Given the description of an element on the screen output the (x, y) to click on. 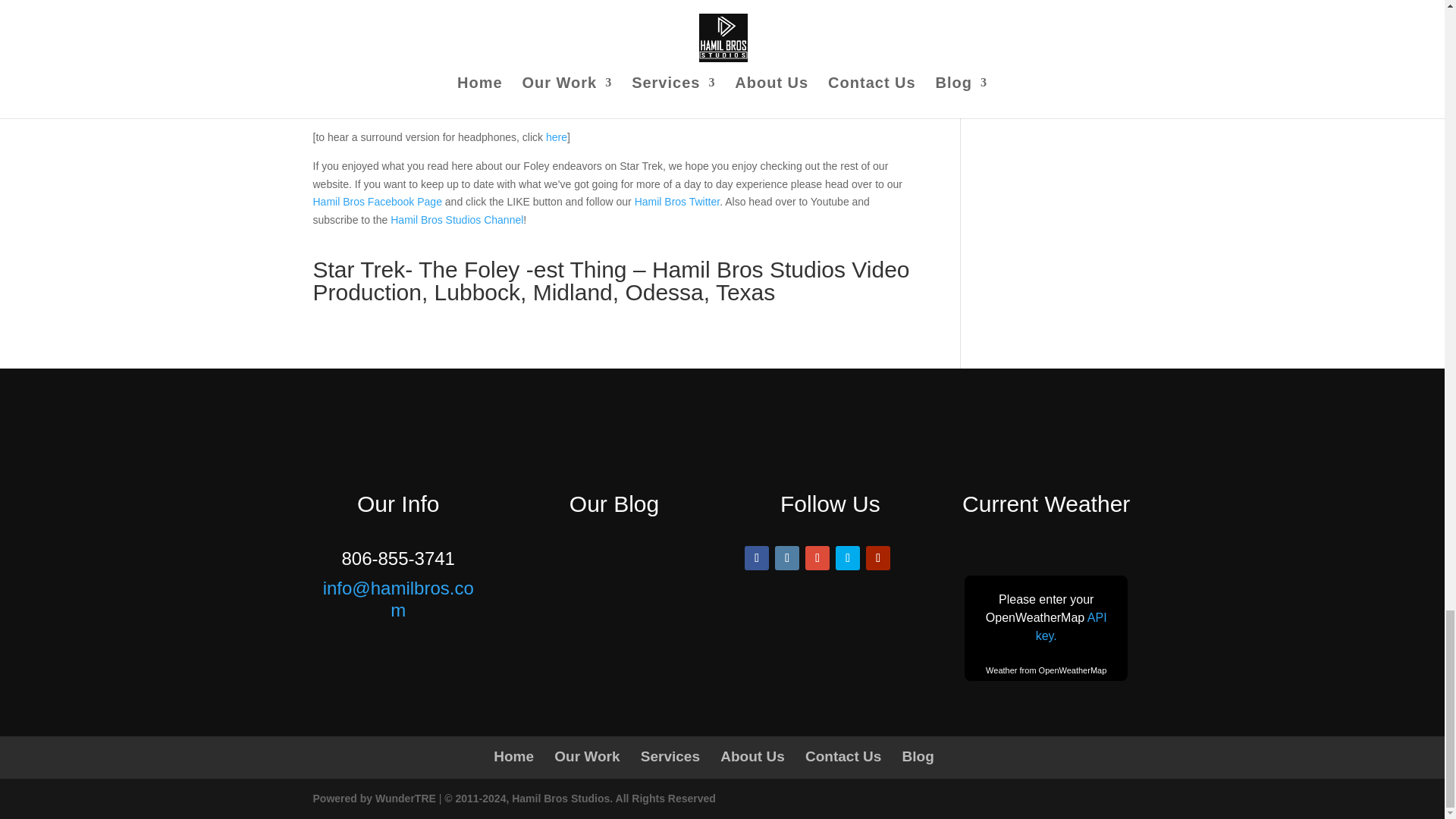
Hamil Bros Facebook Page (377, 201)
Follow on Youtube (877, 558)
Follow on Facebook (756, 558)
Follow on Twitter (847, 558)
here (556, 137)
Follow on Instagram (786, 558)
